Given the description of an element on the screen output the (x, y) to click on. 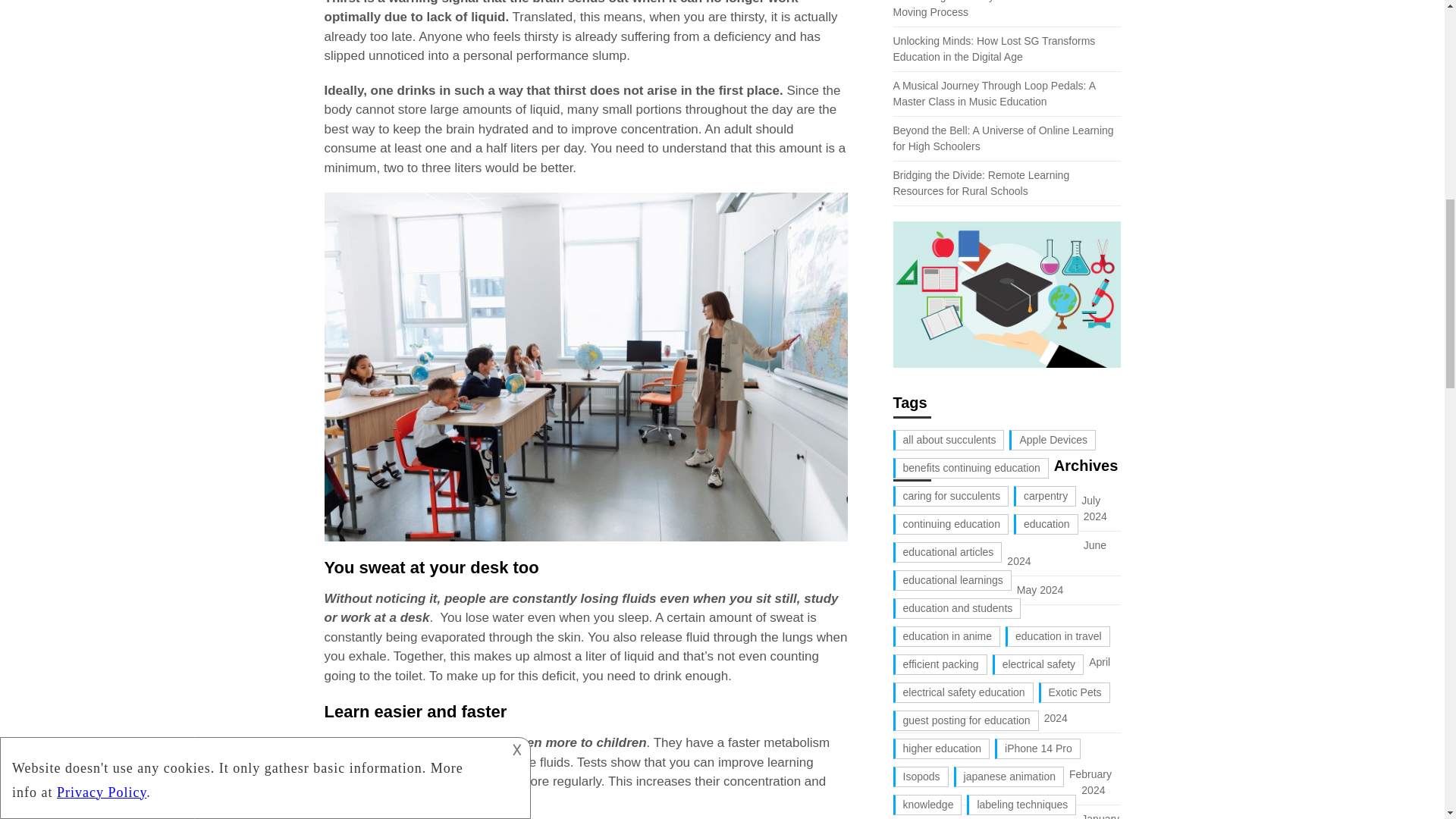
education and students (957, 608)
education in anime (947, 636)
Maximizing Efficiency: How to Streamline Your Moving Process (1002, 8)
education (1045, 524)
education in travel (1057, 636)
caring for succulents (951, 496)
Apple Devices (1052, 439)
benefits continuing education (970, 467)
continuing education (951, 524)
learning (388, 800)
carpentry (1044, 496)
all about succulents (948, 439)
